Given the description of an element on the screen output the (x, y) to click on. 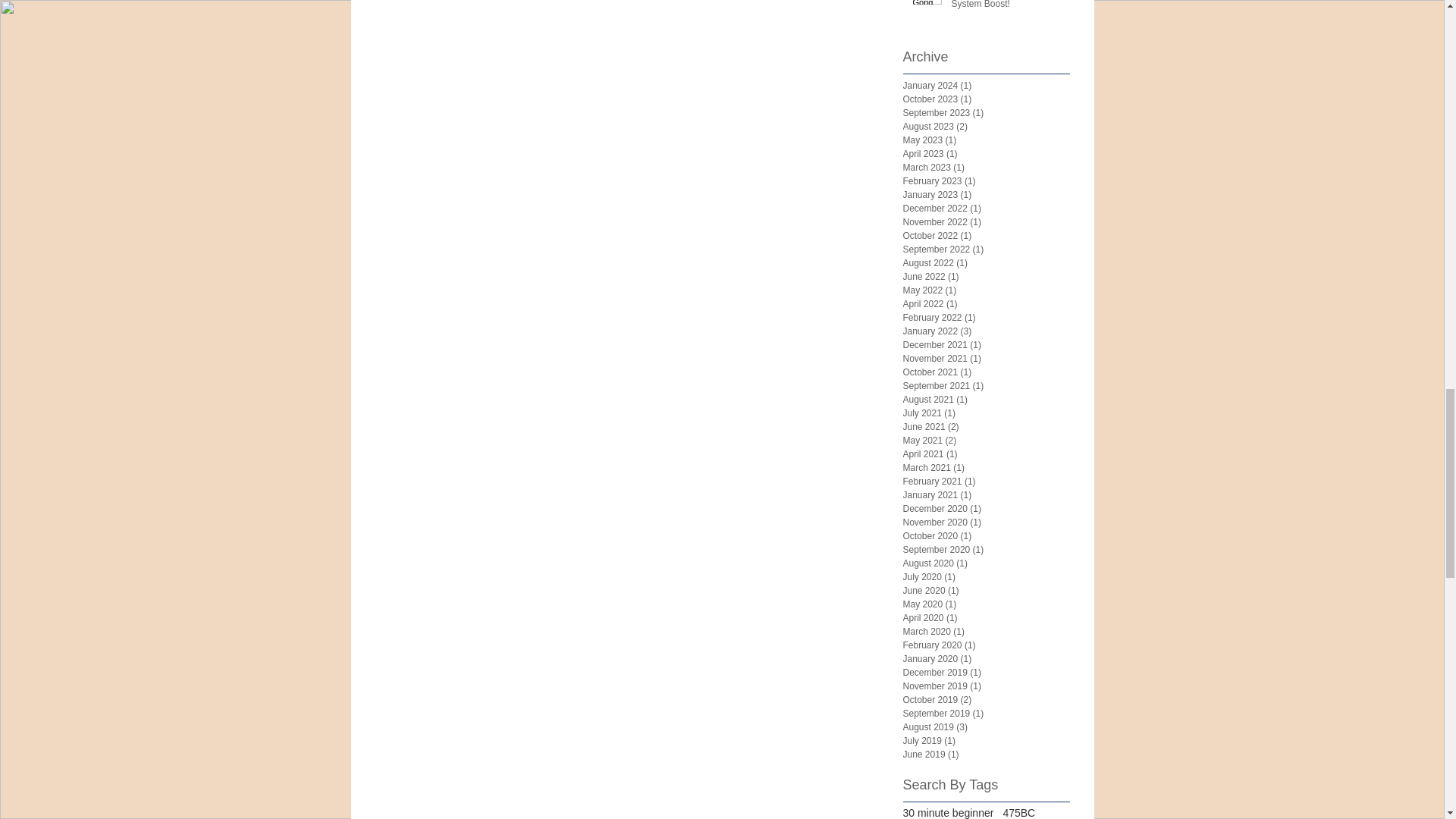
Qi Gong for an Immune System Boost! (1004, 8)
